Given the description of an element on the screen output the (x, y) to click on. 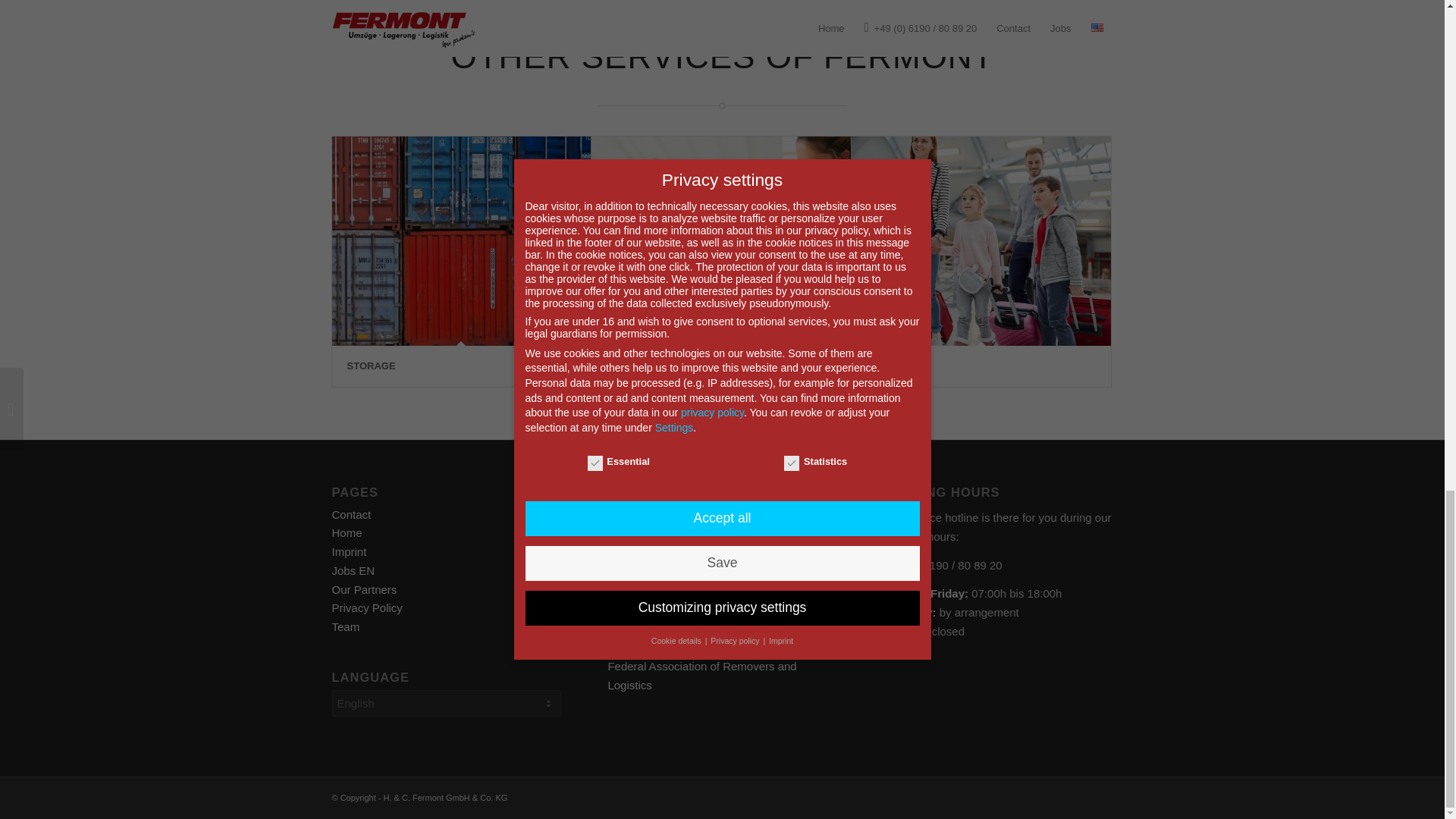
Strong partners (642, 540)
Relocation (980, 240)
Services (720, 240)
Privacy Policy (367, 607)
Relocation Intl. (683, 517)
Imprint (348, 551)
Storage (461, 240)
Contact (351, 513)
Team (345, 626)
Federal Association of Removers and Logistics (701, 675)
Services (631, 365)
RELOCATION (898, 365)
Jobs EN (353, 570)
Services Intl. (749, 517)
SERVICES (631, 365)
